Given the description of an element on the screen output the (x, y) to click on. 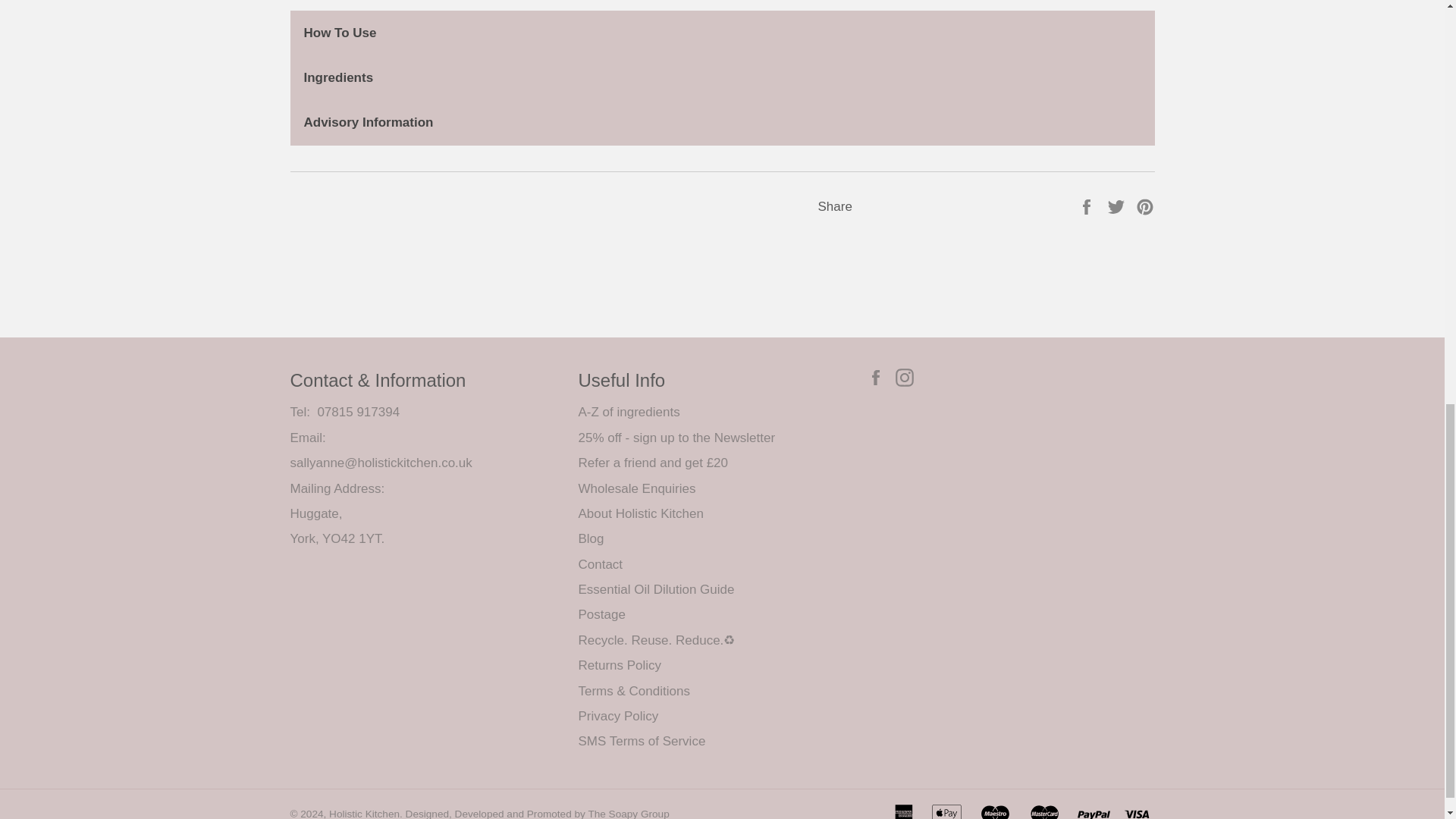
Holistic Kitchen on Facebook (878, 376)
Pin on Pinterest (1144, 206)
Share on Facebook (1088, 206)
Holistic Kitchen on Instagram (908, 376)
Tweet on Twitter (1117, 206)
